Given the description of an element on the screen output the (x, y) to click on. 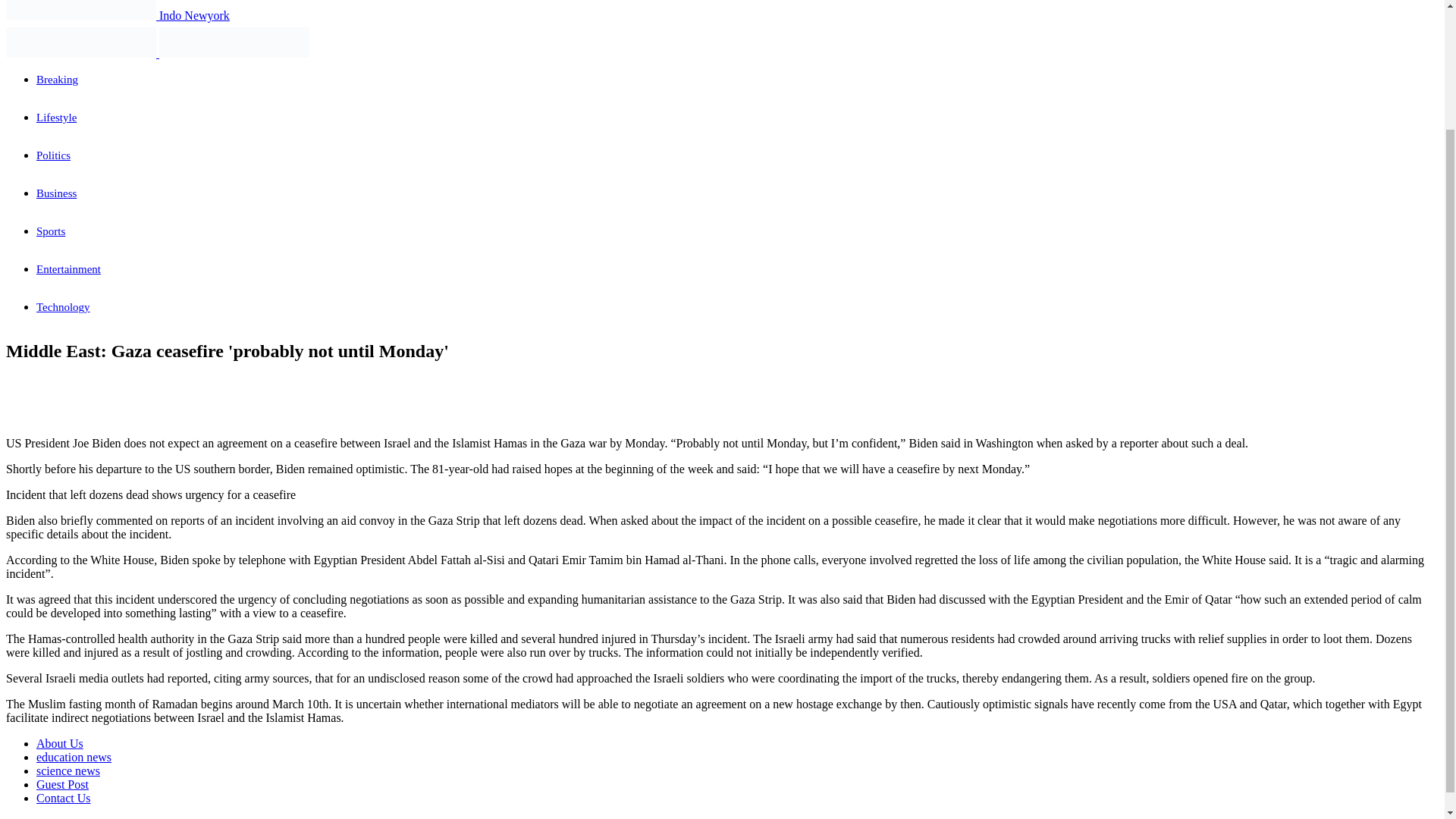
Contact Us (63, 797)
Politics (52, 155)
science news (68, 770)
Guest Post (62, 784)
Lifestyle (56, 117)
About Us (59, 743)
education news (74, 757)
Sports (50, 231)
Entertainment (68, 268)
Business (56, 193)
